Given the description of an element on the screen output the (x, y) to click on. 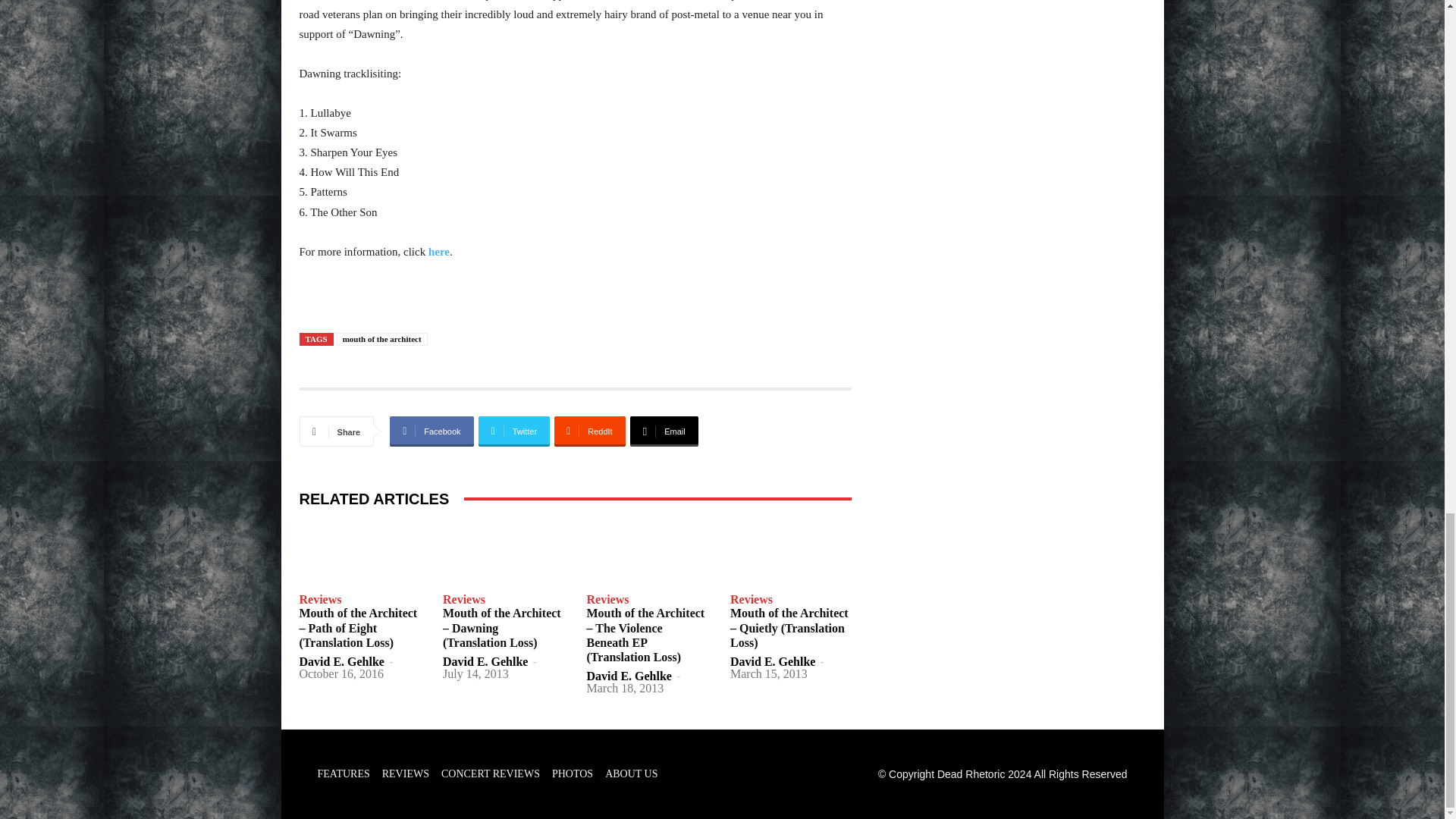
David E. Gehlke (628, 675)
ReddIt (590, 431)
Twitter (514, 431)
Reviews (319, 599)
Email (664, 431)
Email (664, 431)
Twitter (514, 431)
David E. Gehlke (341, 661)
mouth of the architect (382, 338)
Reviews (463, 599)
ReddIt (590, 431)
Facebook (431, 431)
here (437, 251)
Facebook (431, 431)
David E. Gehlke (484, 661)
